Given the description of an element on the screen output the (x, y) to click on. 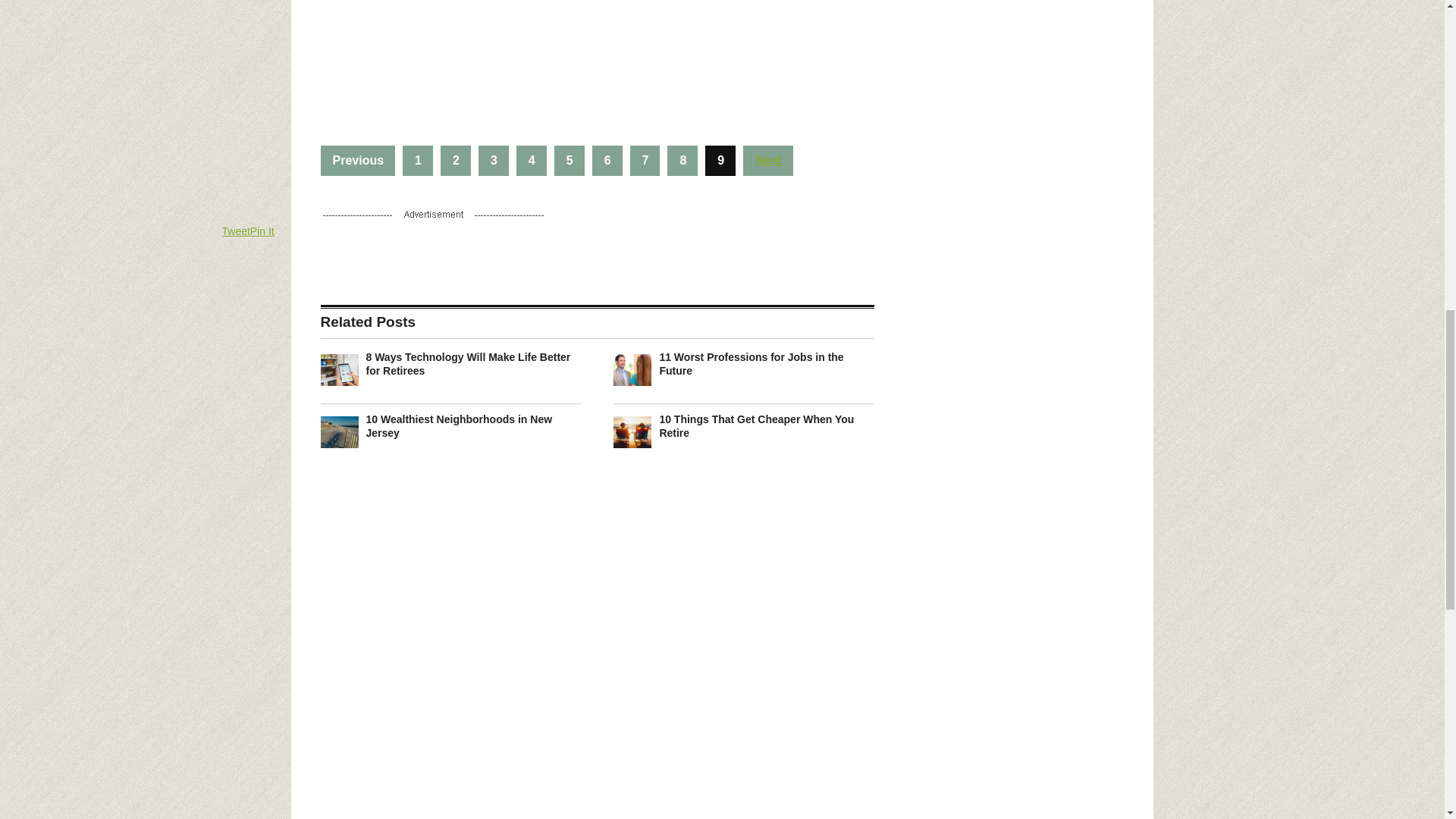
11 Worst Professions for Jobs in the Future (751, 363)
4 (531, 160)
1 (417, 160)
Next (767, 160)
2 (455, 160)
8 Ways Technology Will Make Life Better for Retirees (467, 363)
7 (645, 160)
8 Ways Technology Will Make Life Better for Retirees (467, 363)
8 (681, 160)
5 (569, 160)
3 (493, 160)
10 Things That Get Cheaper When You Retire (756, 425)
Advertisement (596, 56)
Previous (357, 160)
10 Things That Get Cheaper When You Retire (756, 425)
